Given the description of an element on the screen output the (x, y) to click on. 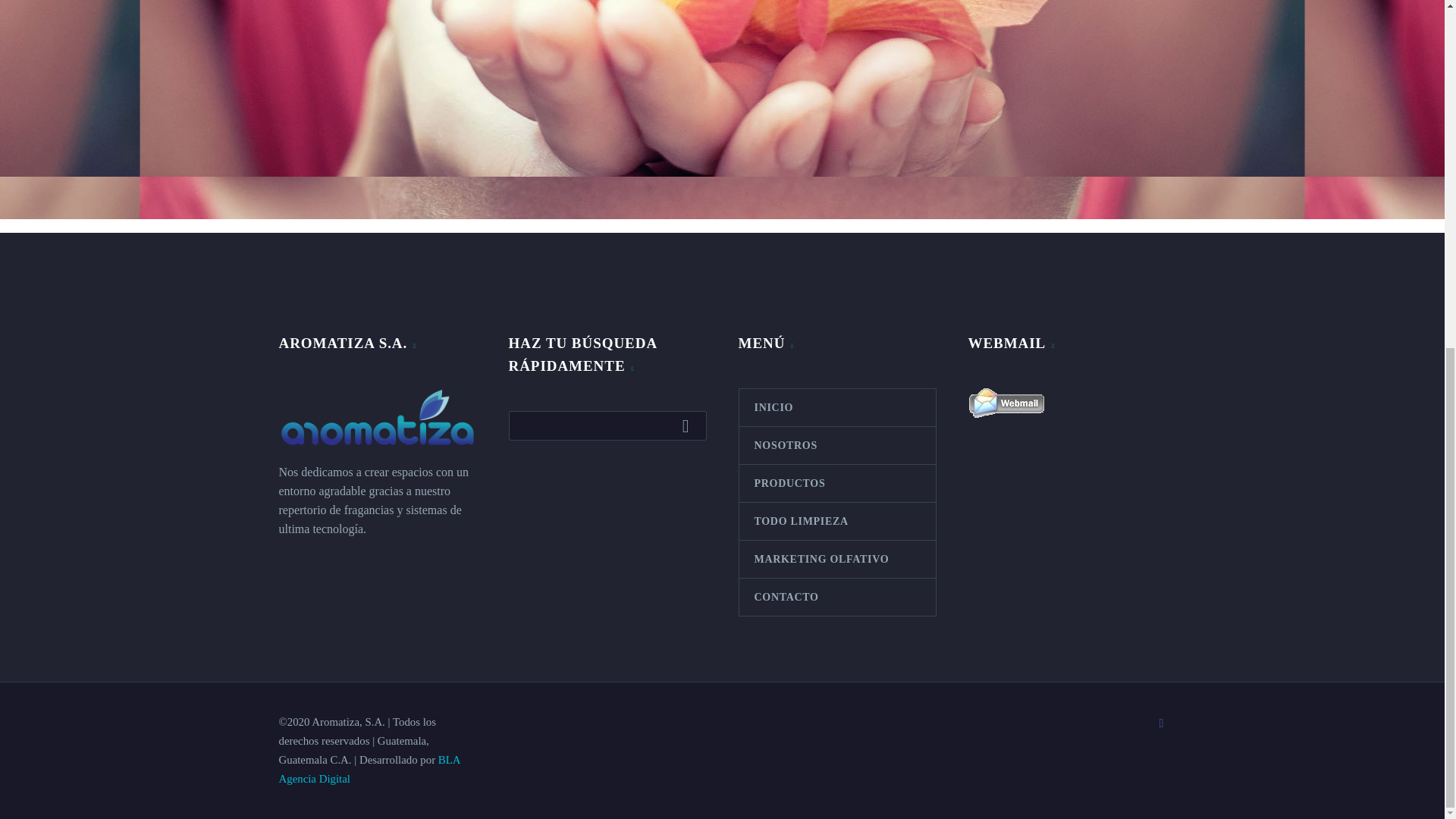
NOSOTROS (836, 445)
MARKETING OLFATIVO (836, 559)
INICIO (836, 407)
CONTACTO (836, 596)
BLA Agencia Digital (369, 768)
PRODUCTOS (836, 483)
TODO LIMPIEZA (836, 520)
Facebook (1161, 723)
BUSCAR (689, 425)
